Given the description of an element on the screen output the (x, y) to click on. 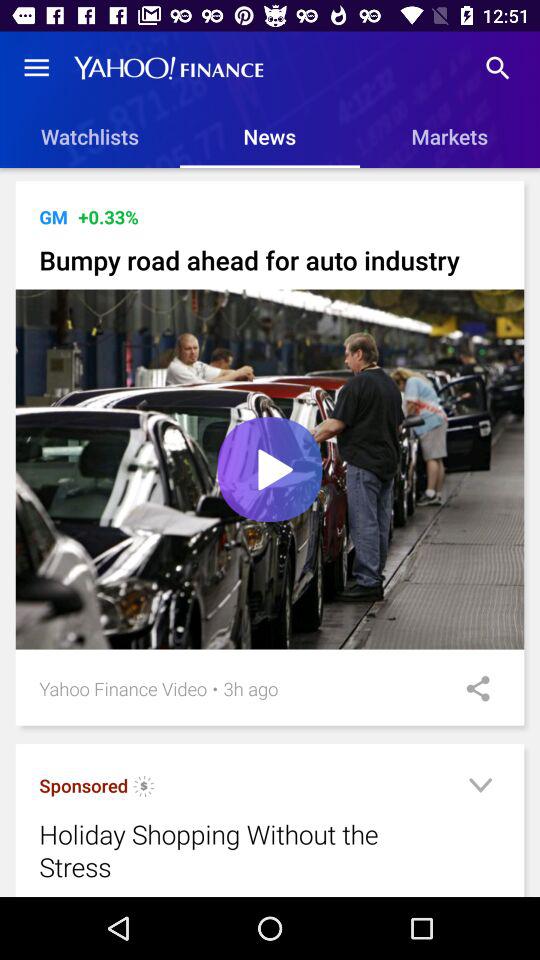
press icon above markets item (497, 67)
